Given the description of an element on the screen output the (x, y) to click on. 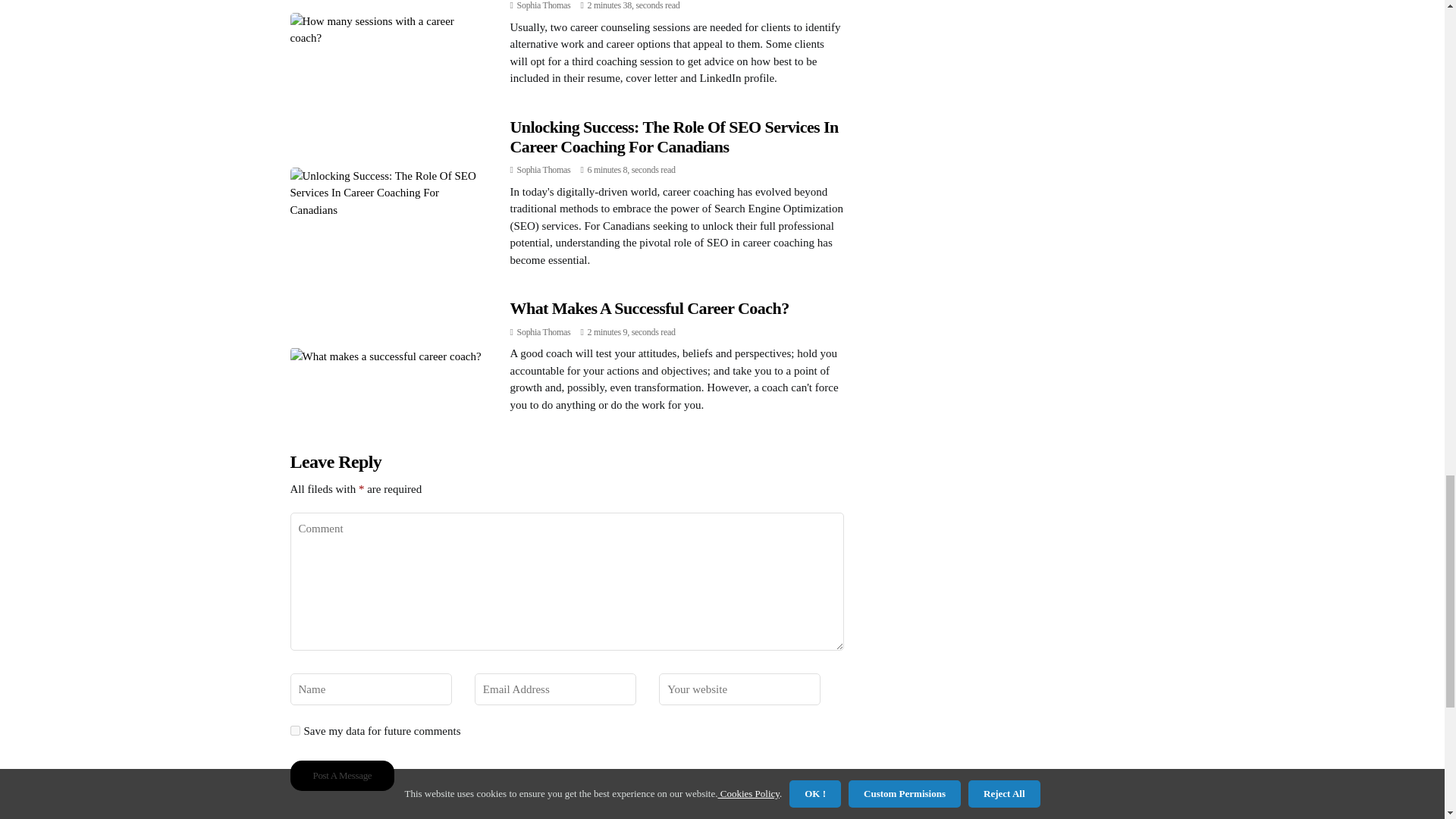
Sophia Thomas (543, 331)
Posts by Sophia Thomas (543, 169)
Sophia Thomas (543, 169)
Post a Message (341, 775)
yes (294, 730)
Sophia Thomas (543, 5)
What Makes A Successful Career Coach? (649, 307)
Post a Message (341, 775)
Posts by Sophia Thomas (543, 331)
